Given the description of an element on the screen output the (x, y) to click on. 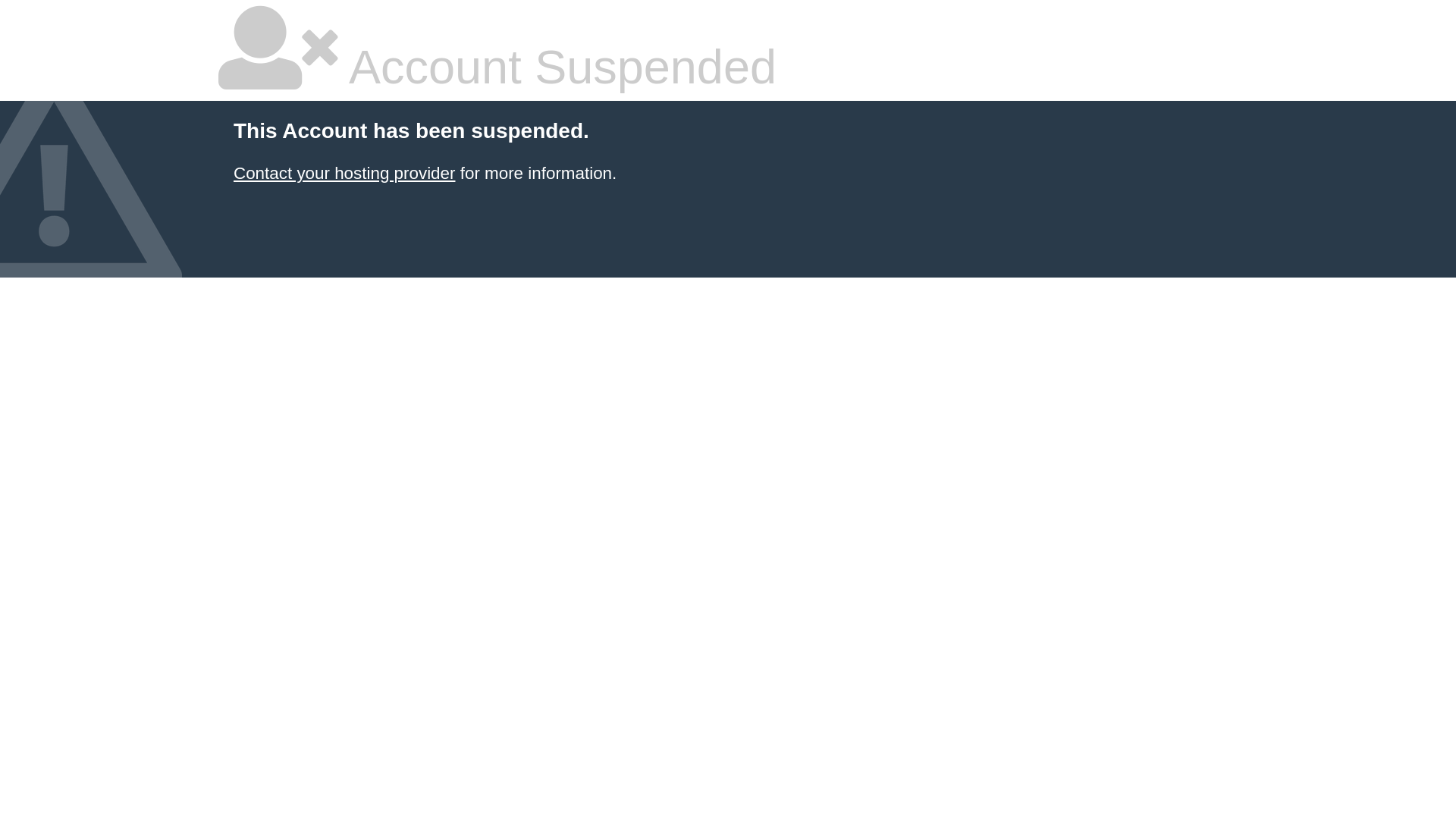
Contact your hosting provider Element type: text (344, 172)
